Given the description of an element on the screen output the (x, y) to click on. 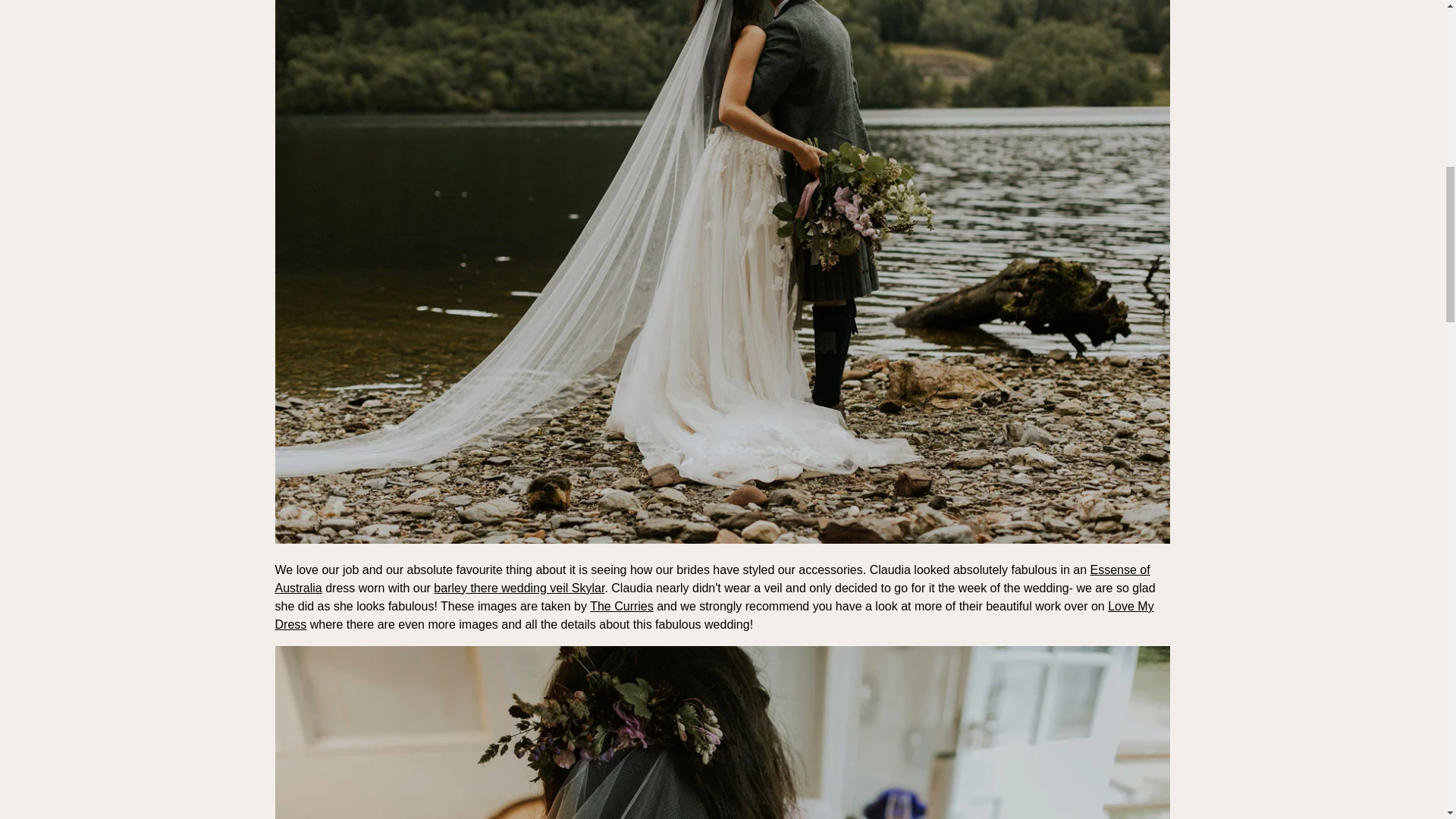
minimal wedding veil (722, 539)
minimal wedding veil (518, 587)
